Given the description of an element on the screen output the (x, y) to click on. 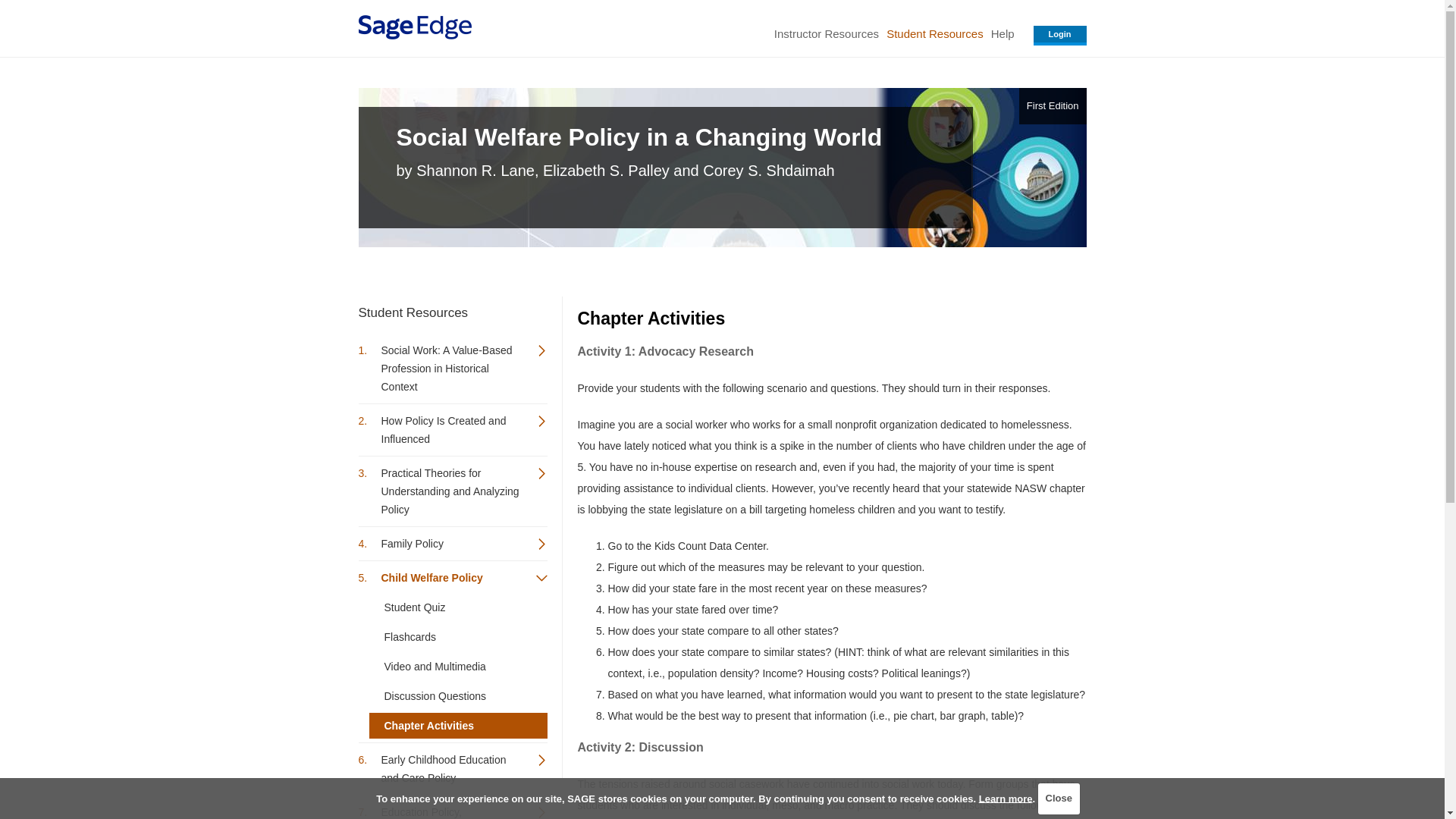
Child Welfare Policy (452, 577)
Login (1059, 35)
How Policy Is Created and Influenced (452, 429)
Student Resources (934, 33)
Practical Theories for Understanding and Analyzing Policy (452, 491)
Learn more (1005, 797)
Instructor Resources (826, 33)
Site Logo (414, 27)
Social Welfare Policy in a Changing World (676, 137)
Social Work: A Value-Based Profession in Historical Context (452, 368)
Help (1002, 33)
Family Policy (452, 543)
Student Quiz (457, 606)
